Given the description of an element on the screen output the (x, y) to click on. 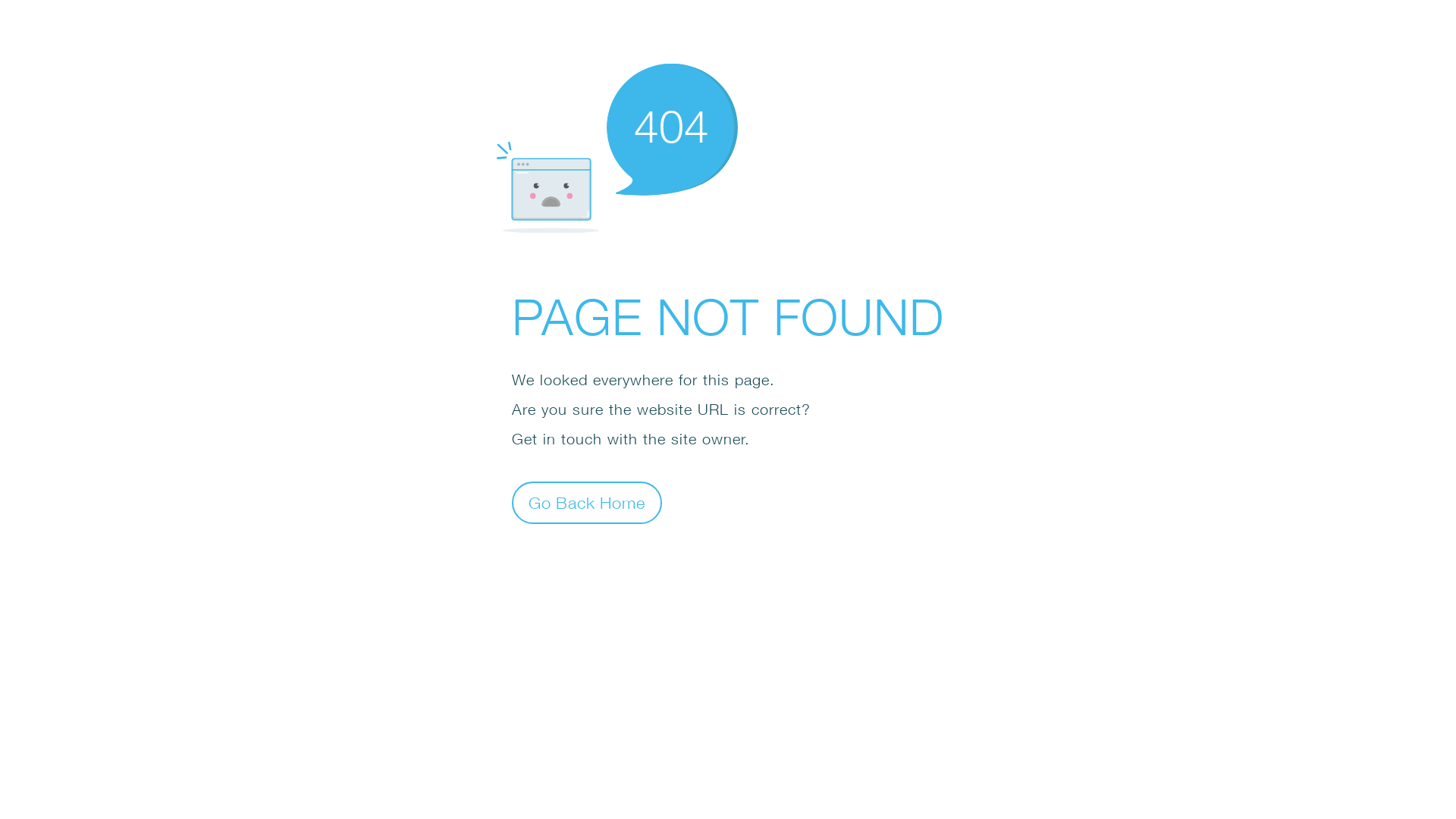
Go Back Home Element type: text (586, 502)
